Given the description of an element on the screen output the (x, y) to click on. 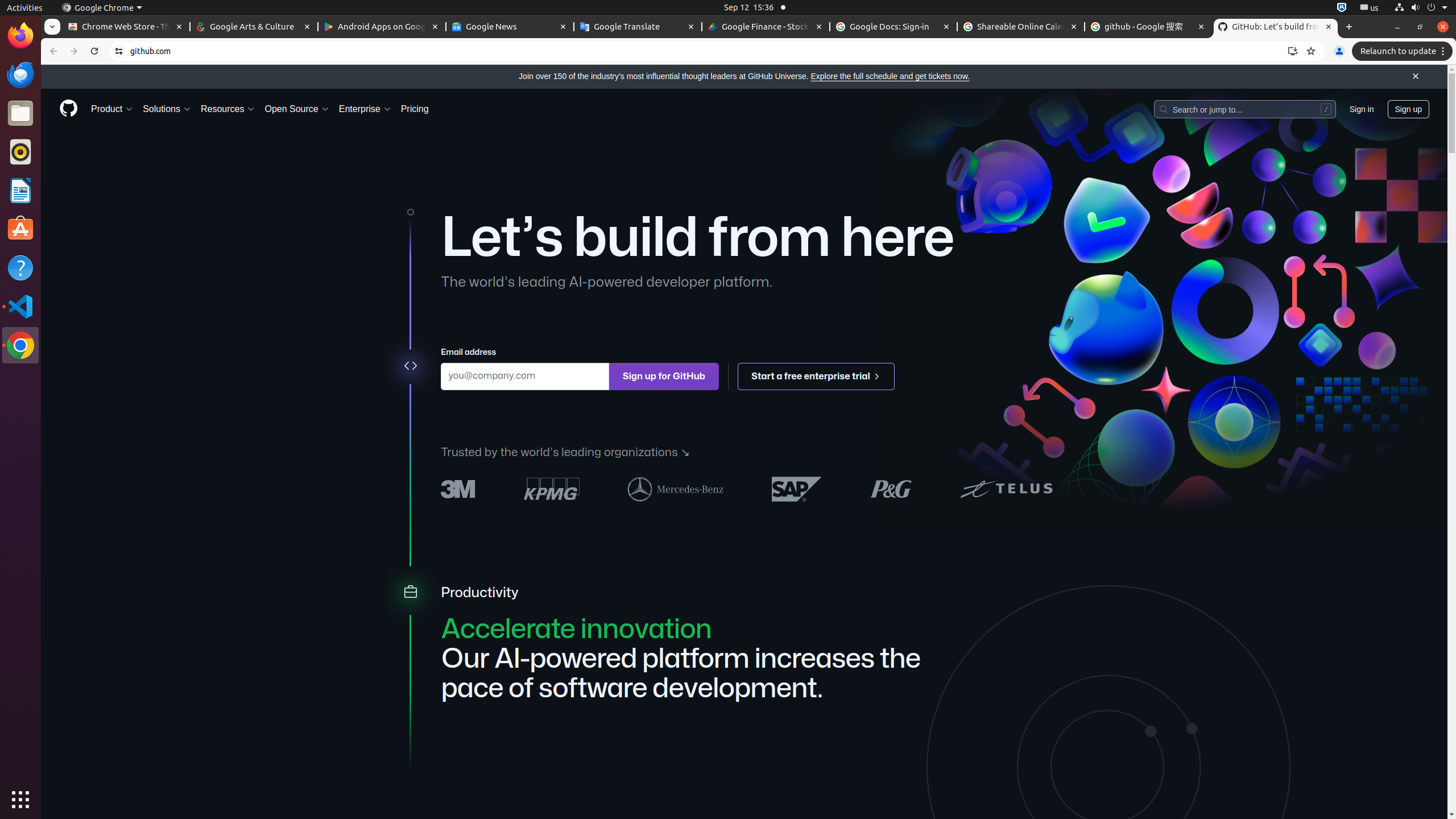
Rhythmbox Element type: push-button (20, 151)
Google Docs: Sign-in - Memory usage - 31.9 MB Element type: page-tab (893, 26)
Android Apps on Google Play - Memory usage - 52.4 MB Element type: page-tab (381, 26)
Ubuntu Software Element type: push-button (20, 229)
Bookmark this tab Element type: push-button (1310, 51)
